Given the description of an element on the screen output the (x, y) to click on. 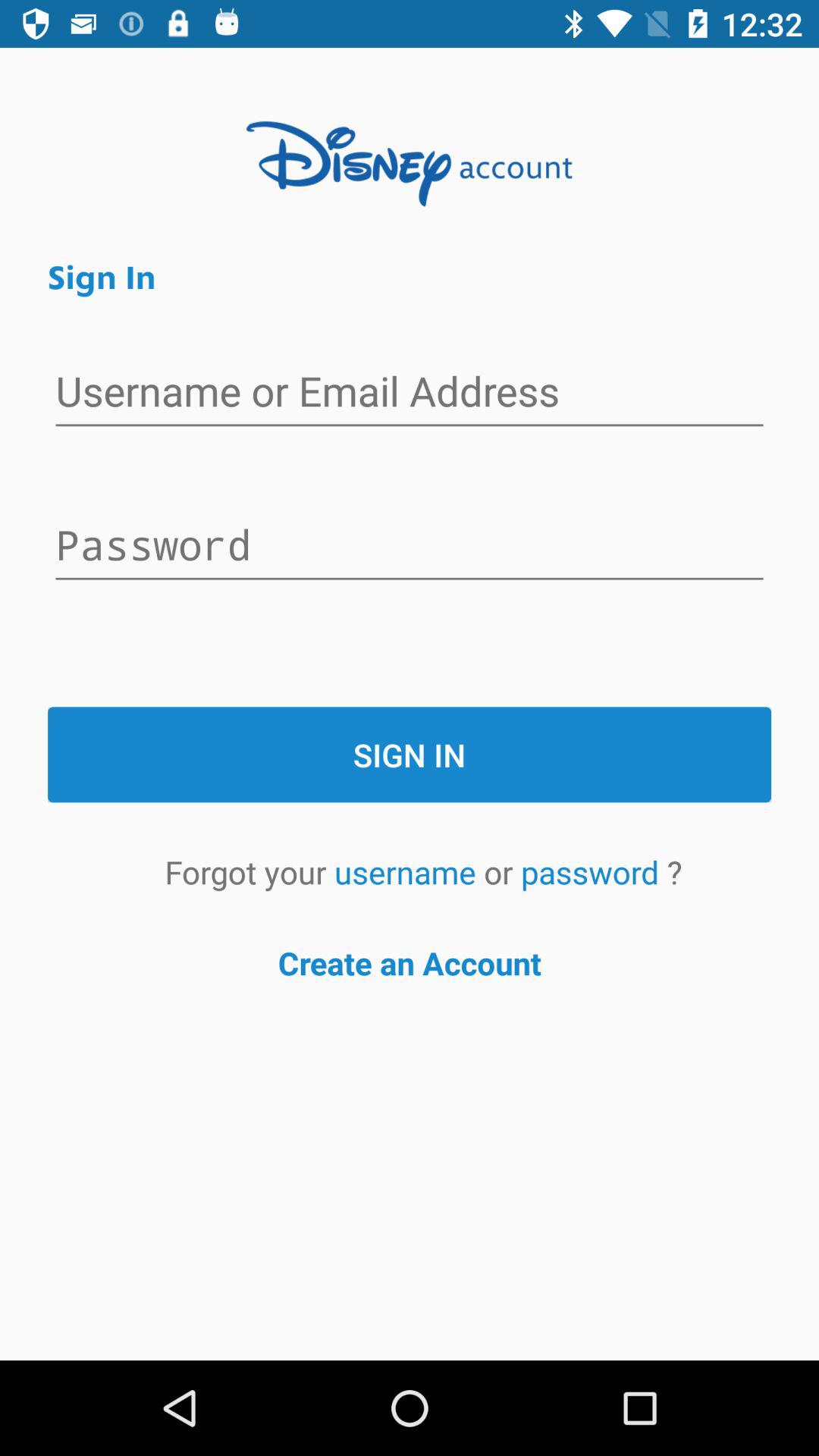
turn on item above sign in item (409, 546)
